Given the description of an element on the screen output the (x, y) to click on. 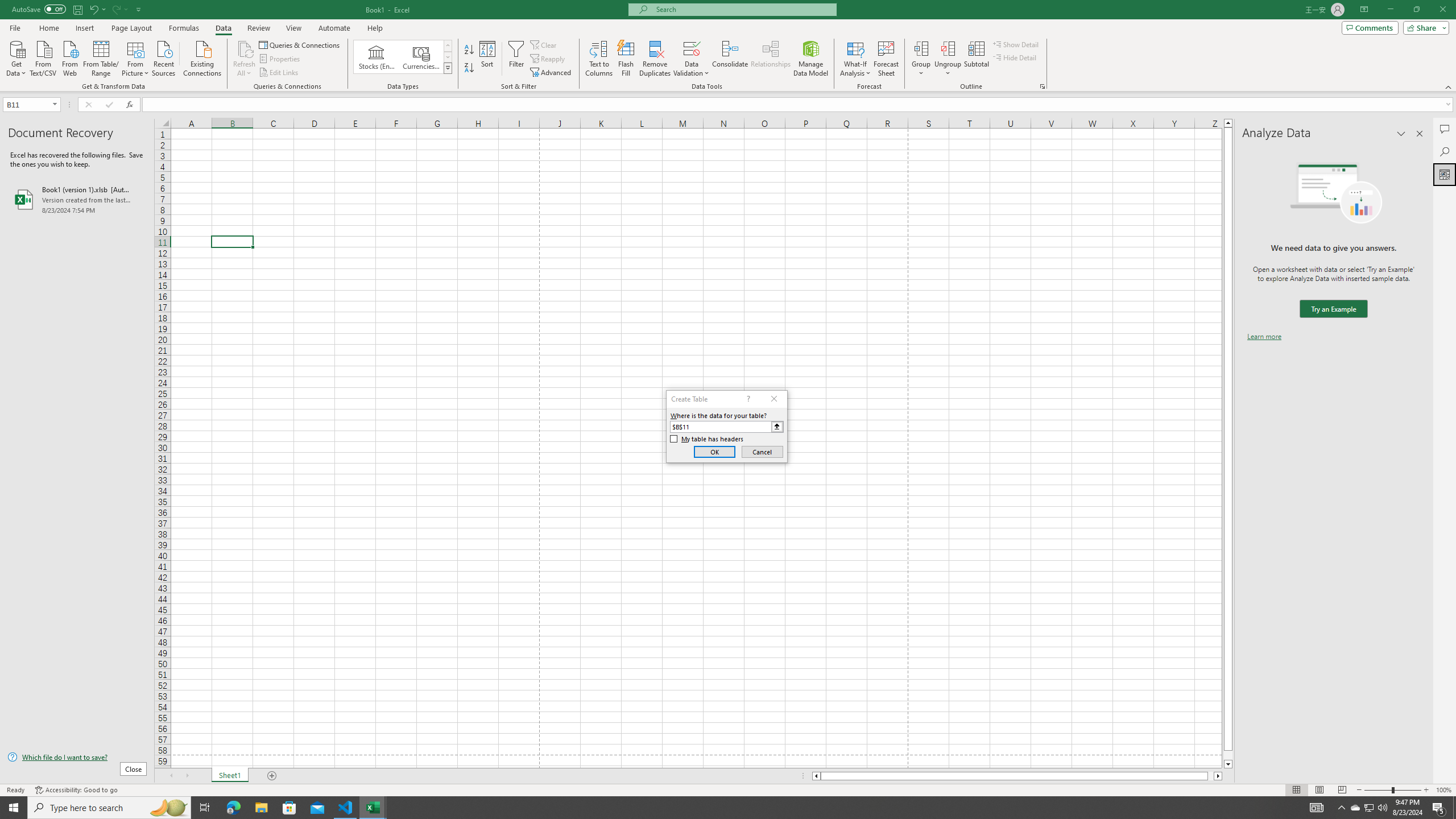
Undo (96, 9)
Learn more (1264, 336)
Text to Columns... (598, 58)
Data Validation... (691, 58)
Refresh All (244, 58)
Close pane (1419, 133)
Which file do I want to save? (77, 757)
Properties (280, 58)
Name Box (27, 104)
Scroll Left (171, 775)
Save (77, 9)
Home (48, 28)
Collapse the Ribbon (1448, 86)
Share (1423, 27)
Zoom In (1426, 790)
